Given the description of an element on the screen output the (x, y) to click on. 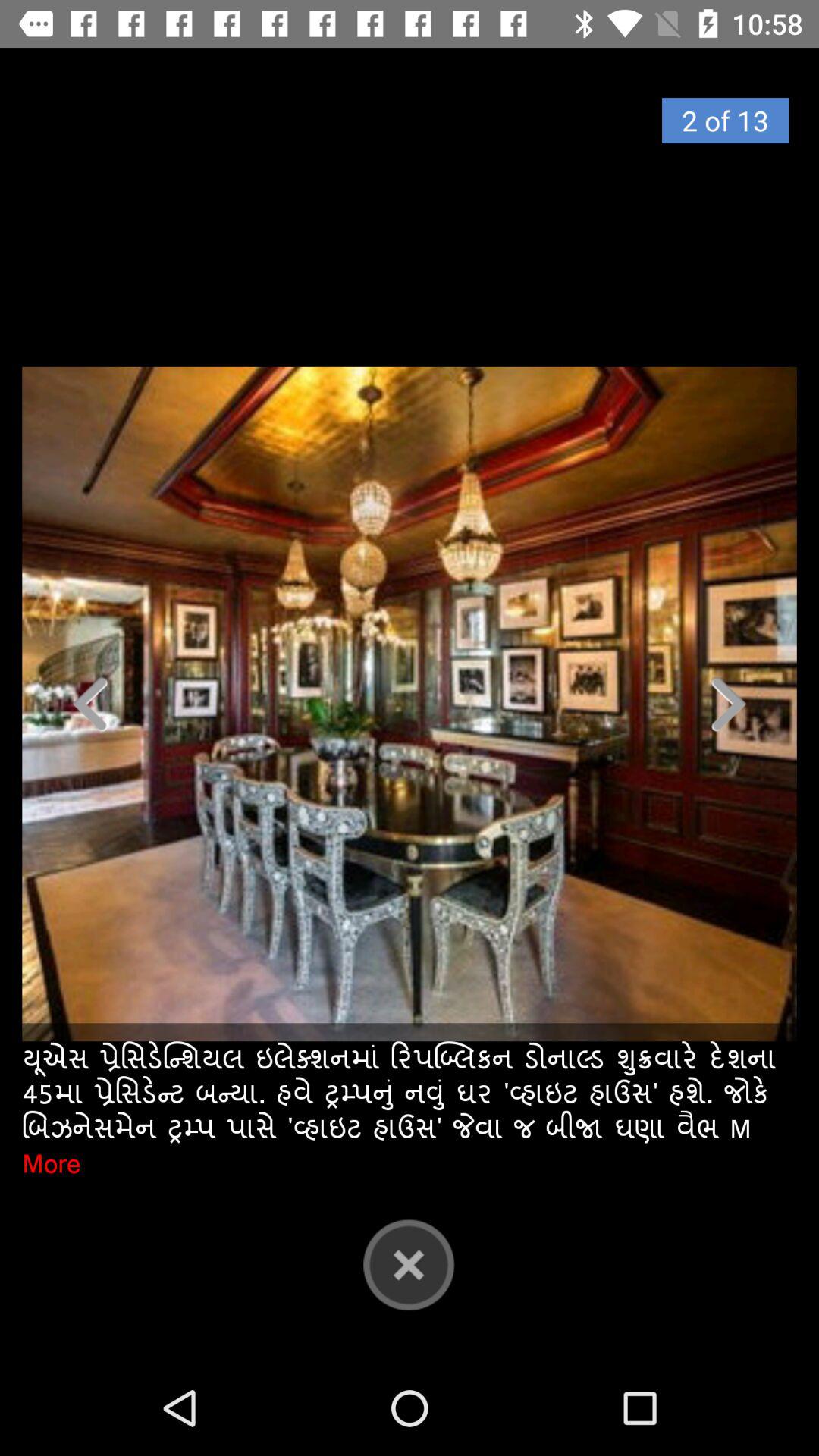
go to close button (409, 1264)
